Given the description of an element on the screen output the (x, y) to click on. 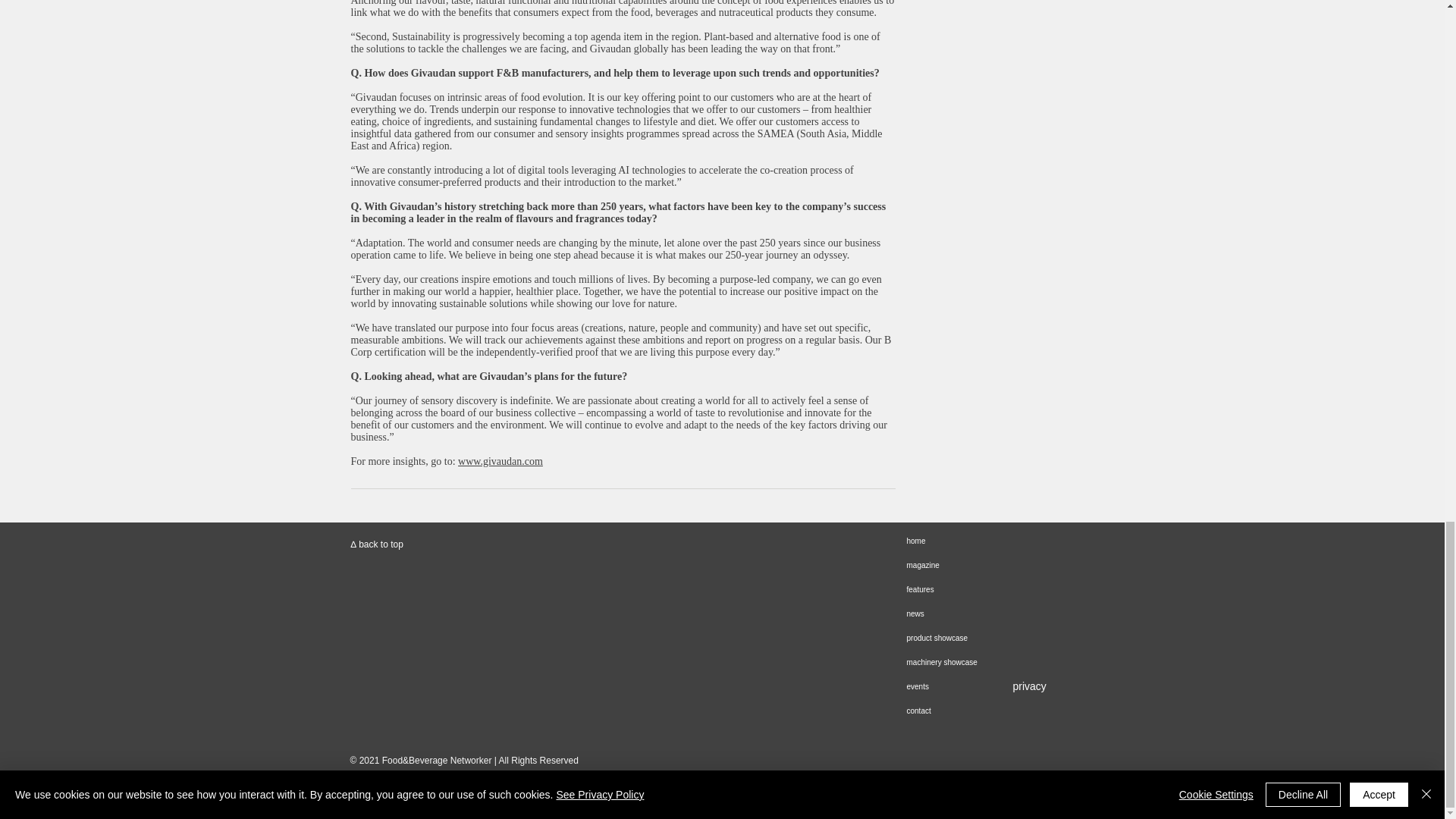
www.givaudan.com (500, 460)
Twitter Follow (374, 514)
